Given the description of an element on the screen output the (x, y) to click on. 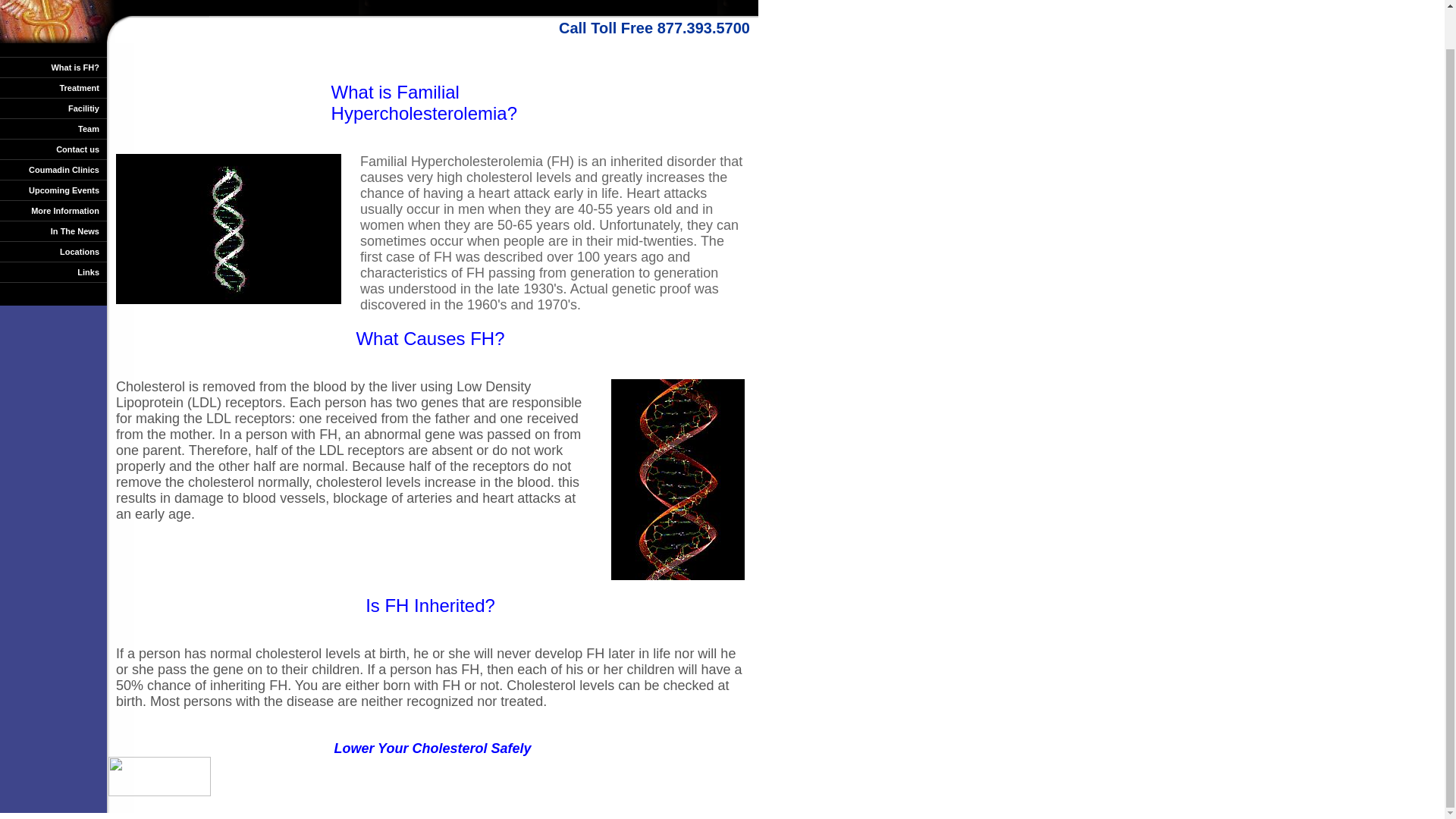
Contact us (53, 149)
Team (53, 128)
Locations (53, 251)
Links (53, 272)
More Information (53, 210)
What is FH? (53, 67)
Coumadin Clinics (53, 169)
Facilitiy (53, 108)
Upcoming Events (53, 190)
Treatment (53, 87)
In The News (53, 231)
